Given the description of an element on the screen output the (x, y) to click on. 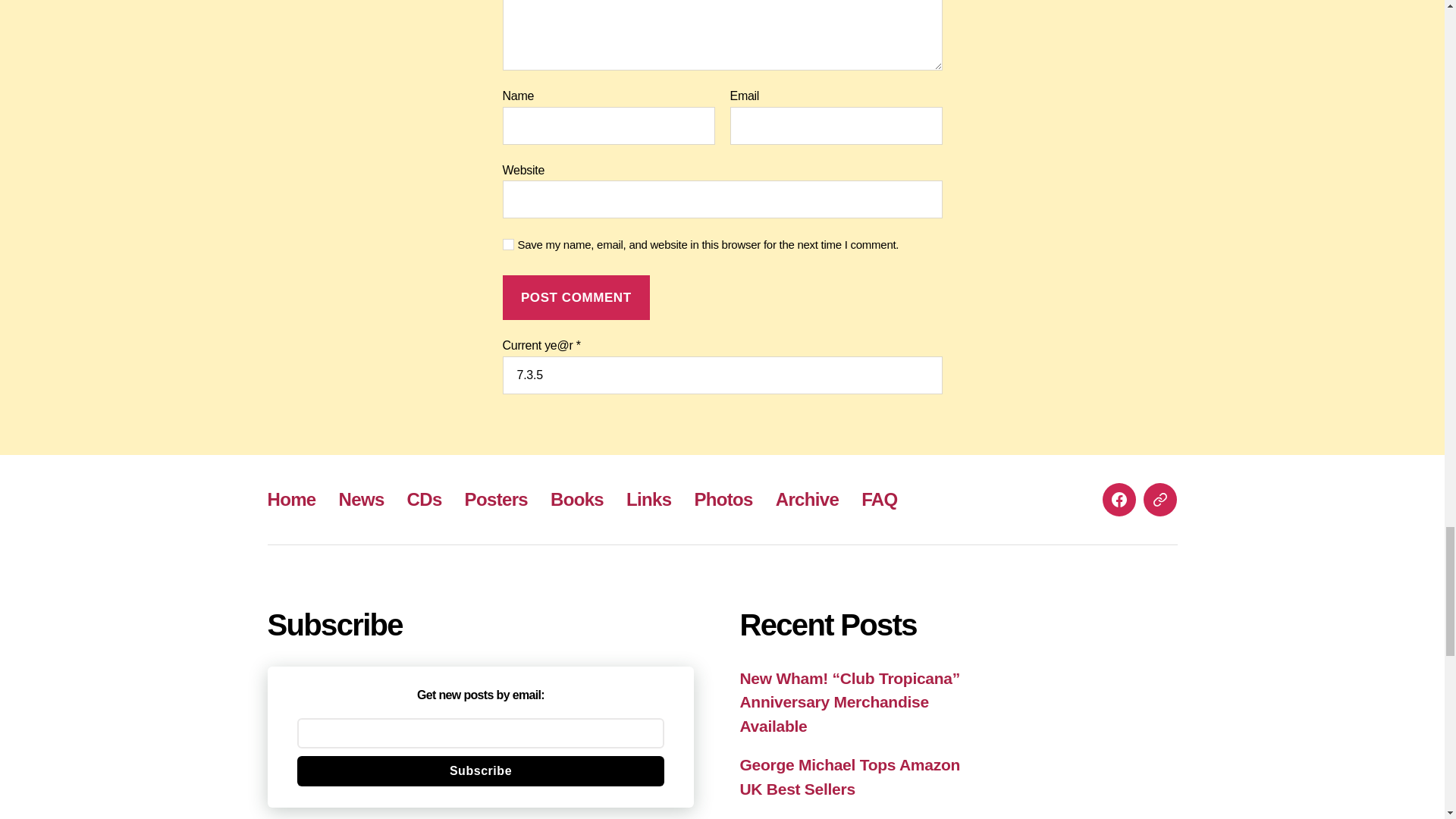
7.3.5 (722, 374)
yes (507, 244)
Post Comment (575, 297)
